Given the description of an element on the screen output the (x, y) to click on. 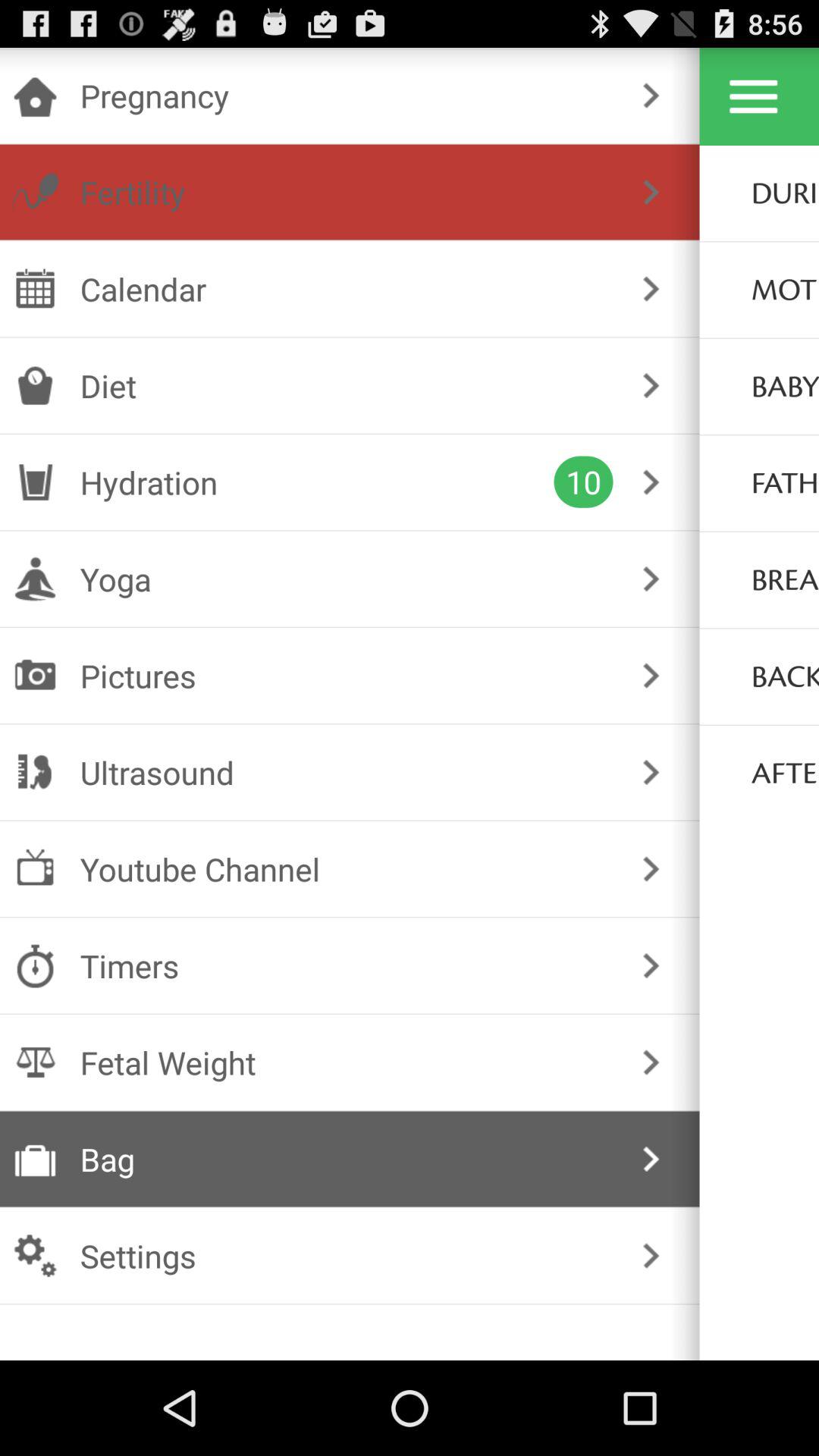
press the bag (346, 1158)
